Given the description of an element on the screen output the (x, y) to click on. 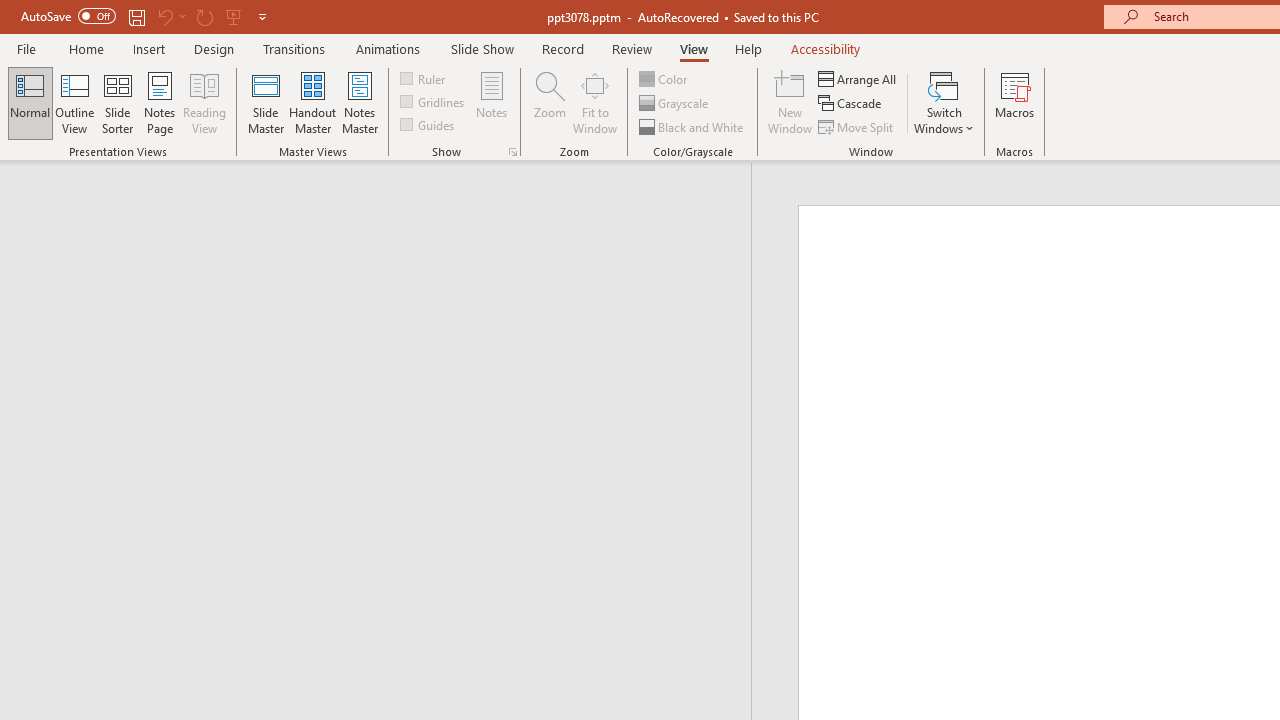
Slide Master (265, 102)
New Window (790, 102)
Notes Page (159, 102)
Handout Master (312, 102)
Move Split (857, 126)
